Given the description of an element on the screen output the (x, y) to click on. 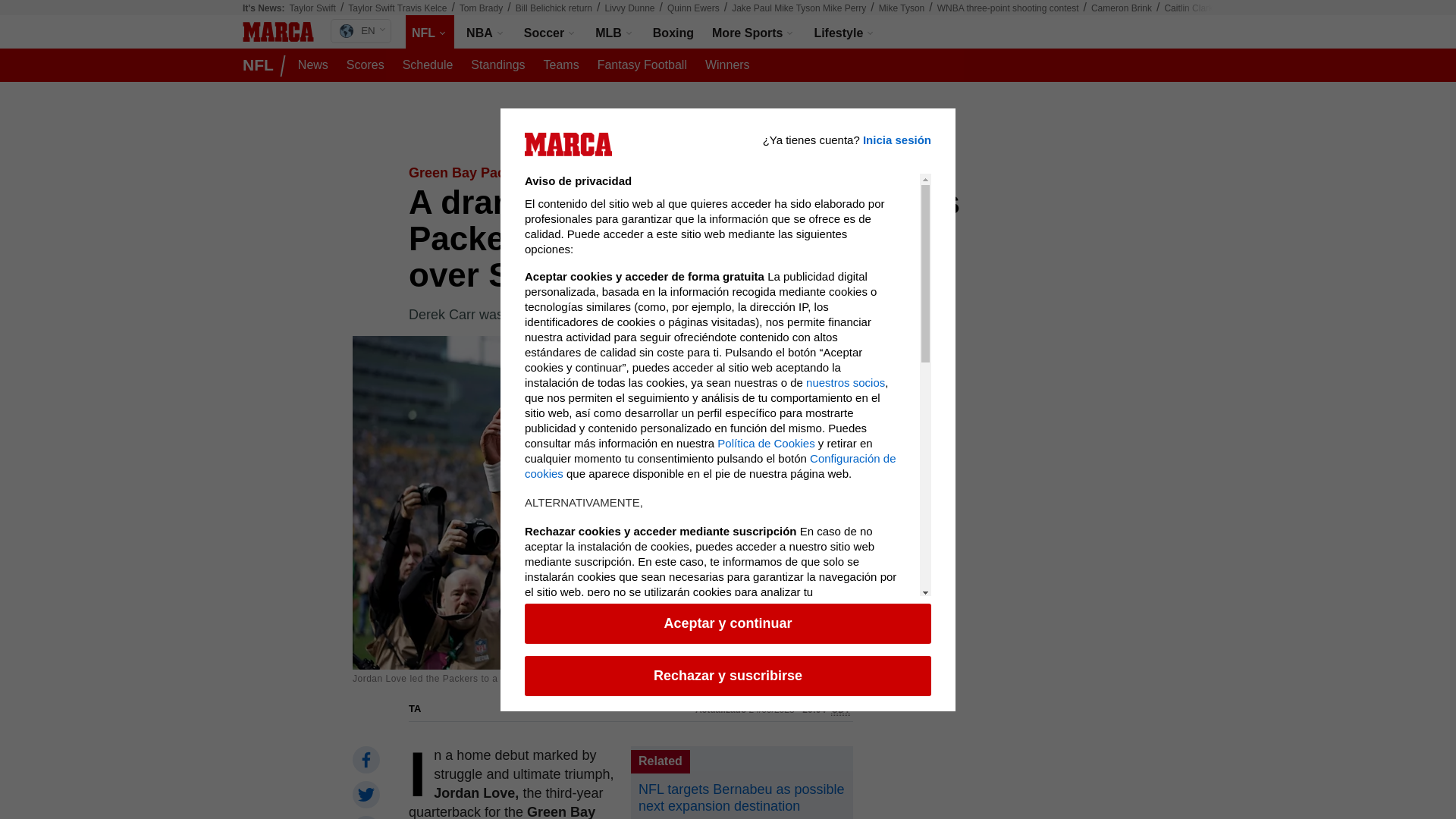
WNBA three-point shooting contest (1007, 8)
Jake Paul Mike Tyson Mike Perry (799, 8)
nuestros socios (845, 392)
Standings (497, 64)
NFL (430, 31)
Taylor Swift (312, 8)
Teams (561, 64)
Scores (365, 64)
NFL (430, 31)
MLB (614, 31)
Mike Tyson (901, 8)
Taylor Swift Travis Kelce (396, 8)
Winners (726, 64)
Quinn Ewers (360, 30)
